Given the description of an element on the screen output the (x, y) to click on. 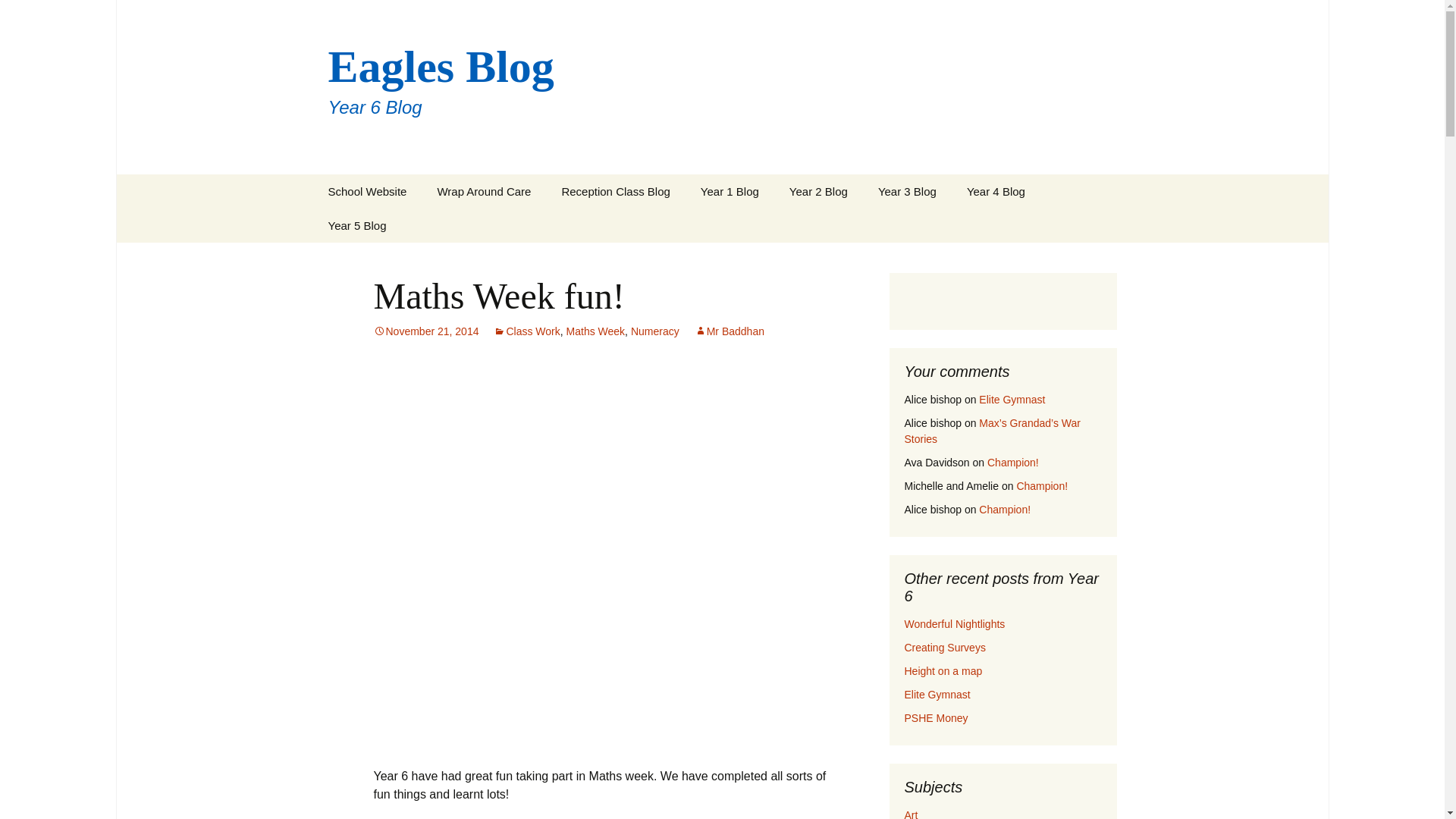
Year 1 Blog (729, 191)
Reception Class Blog (615, 191)
Class Work (526, 331)
Maths Week (596, 331)
Year 3 Blog (907, 191)
Elite Gymnast (1011, 399)
School Website (367, 191)
Year 5 Blog (357, 225)
November 21, 2014 (425, 331)
Mr Baddhan (729, 331)
